Given the description of an element on the screen output the (x, y) to click on. 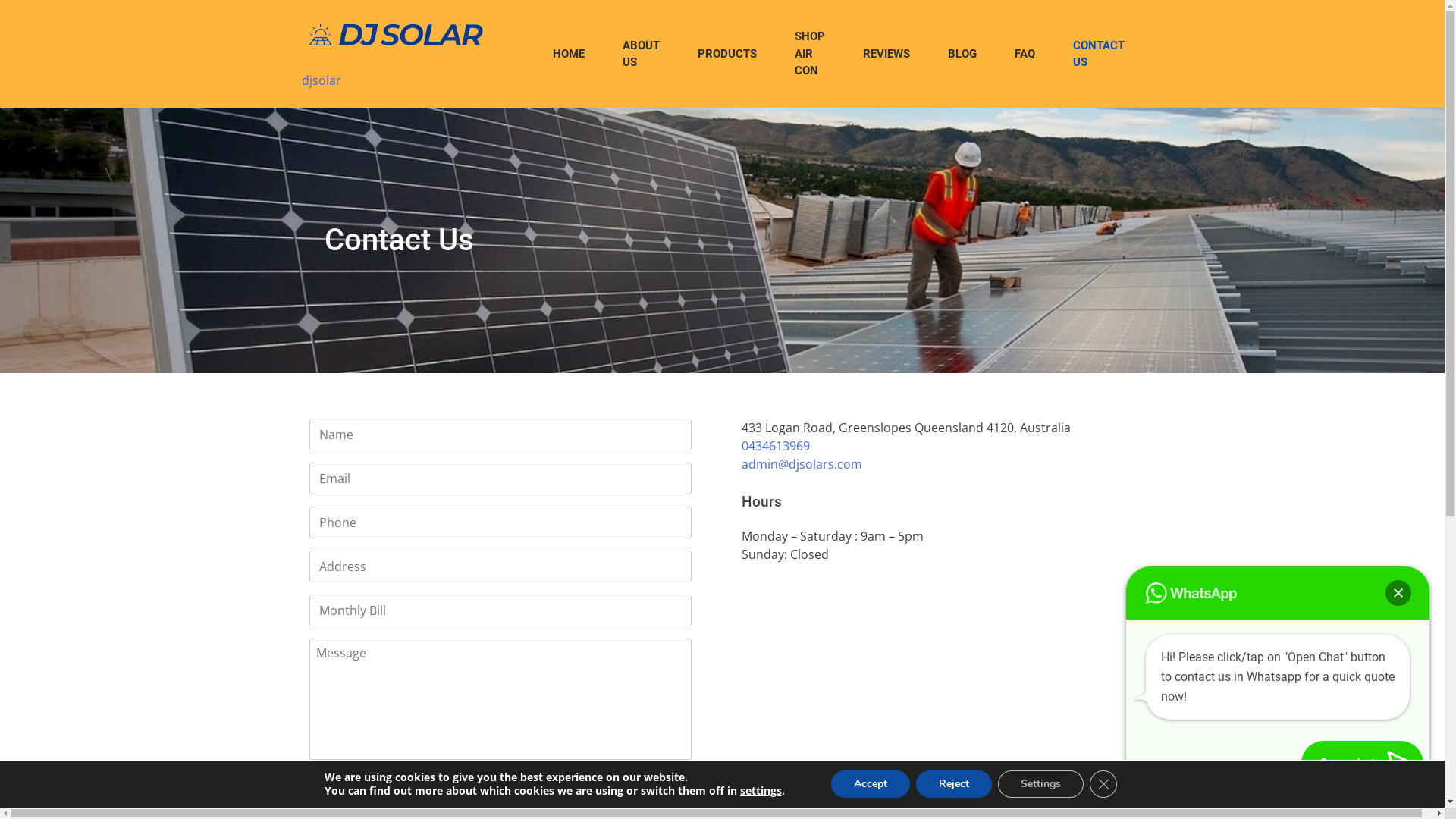
Accept Element type: text (870, 783)
HOME Element type: text (568, 53)
0434613969 Element type: text (775, 445)
Close Element type: hover (1398, 592)
FAQ Element type: text (1023, 53)
REVIEWS Element type: text (885, 53)
Settings Element type: text (1040, 783)
BLOG Element type: text (961, 53)
Close GDPR Cookie Banner Element type: text (1103, 783)
PRODUCTS Element type: text (726, 53)
djsolar Element type: text (321, 80)
CONTACT US Element type: text (1098, 53)
admin@djsolars.com Element type: text (801, 463)
Reject Element type: text (953, 783)
SHOP AIR CON Element type: text (809, 53)
ABOUT US Element type: text (640, 53)
